Given the description of an element on the screen output the (x, y) to click on. 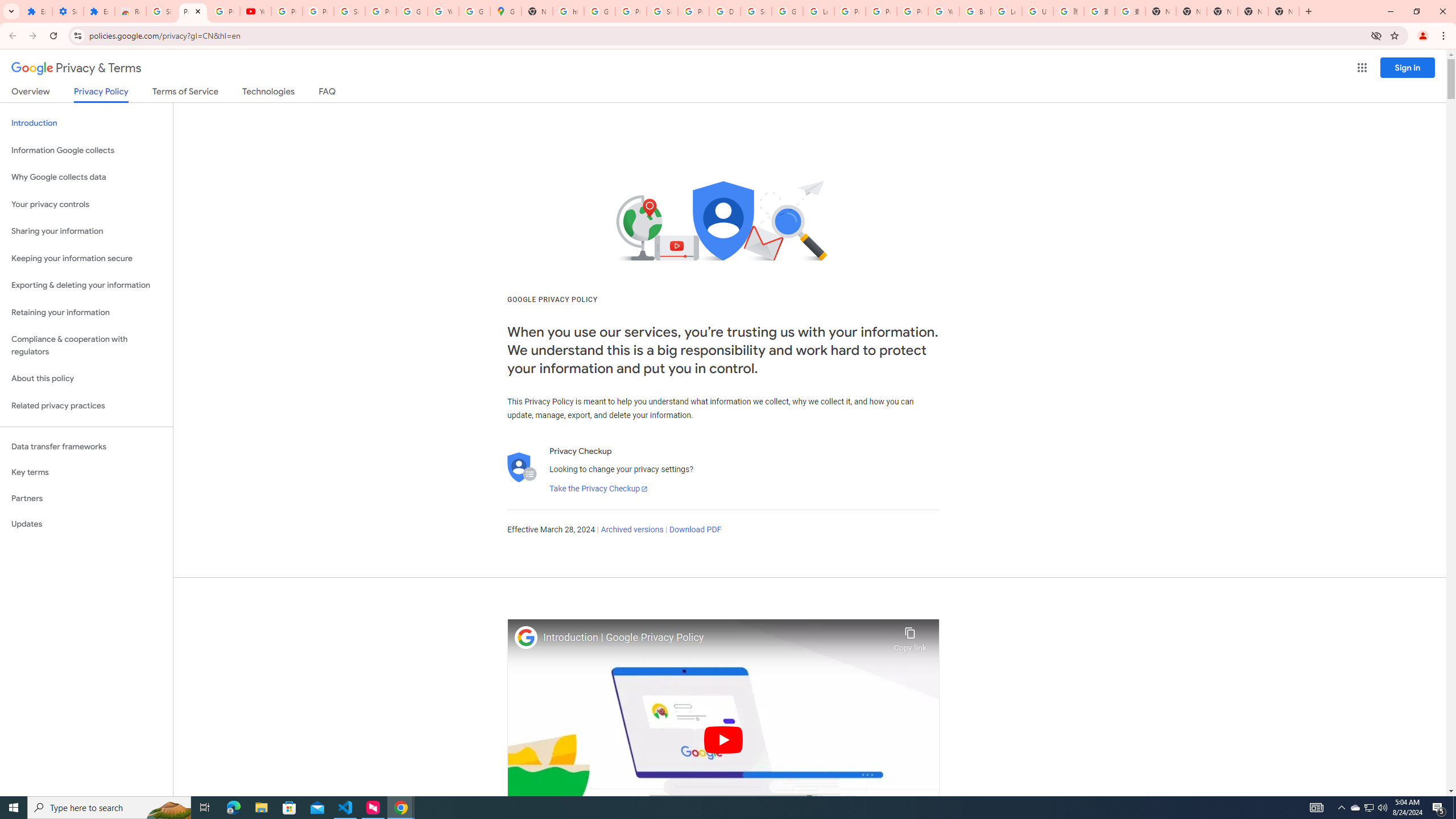
Related privacy practices (86, 405)
Sign in - Google Accounts (161, 11)
Privacy Help Center - Policies Help (849, 11)
About this policy (86, 379)
New Tab (1160, 11)
Your privacy controls (86, 204)
